Given the description of an element on the screen output the (x, y) to click on. 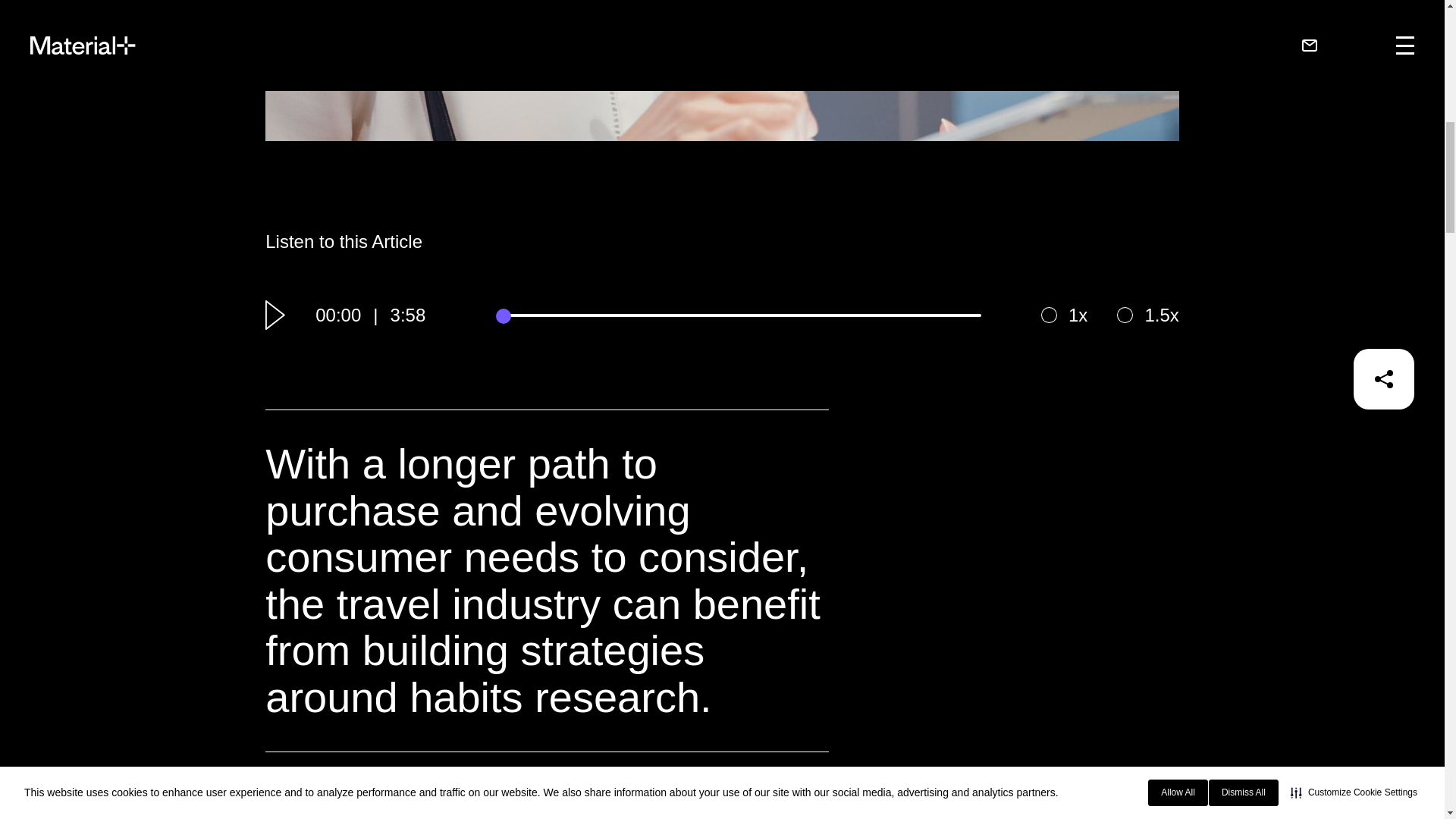
2 (1125, 314)
1 (1049, 314)
